Given the description of an element on the screen output the (x, y) to click on. 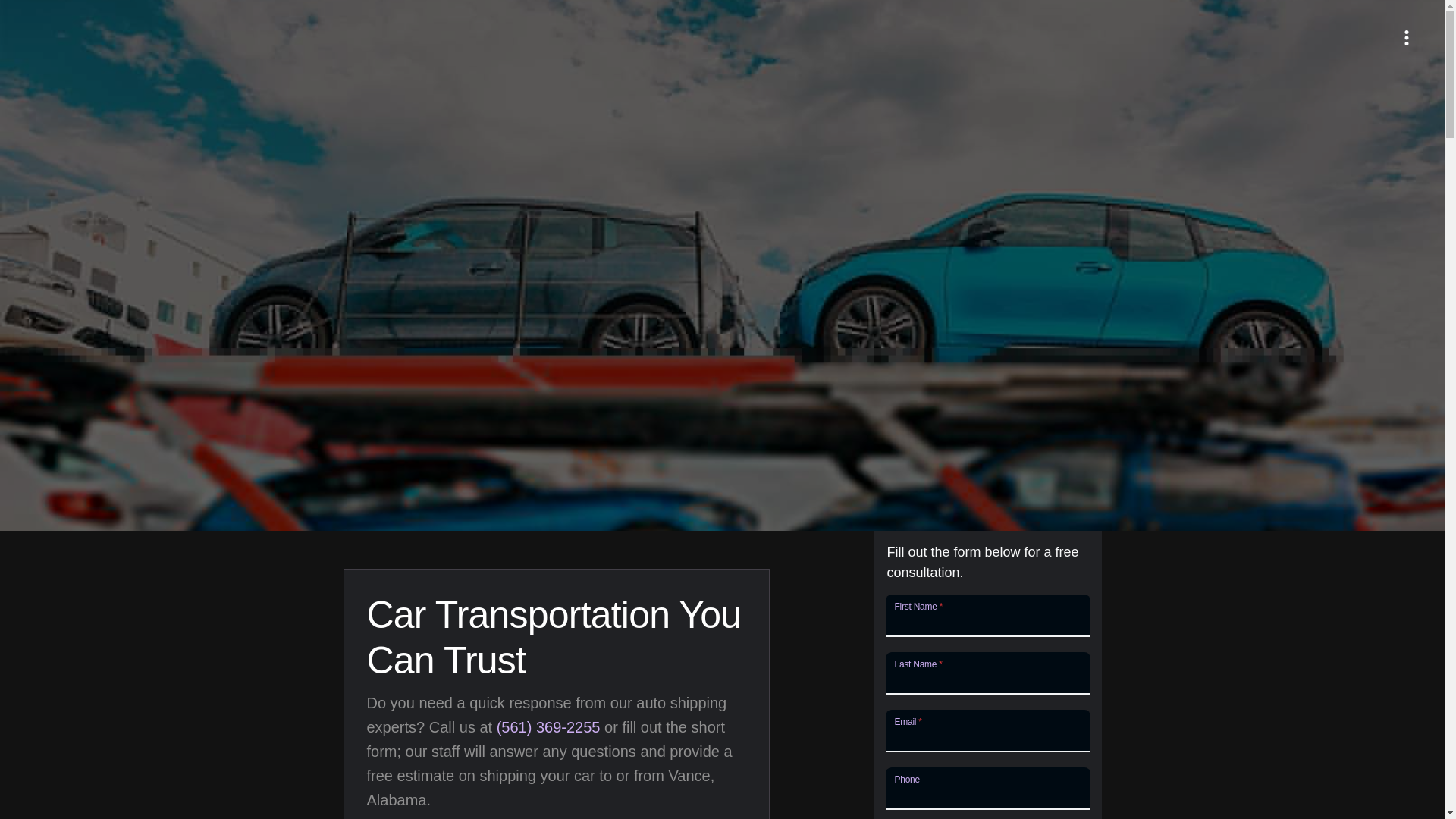
FAQ (1142, 1)
SERVICES (1207, 1)
REVIEWS (1395, 1)
GET A QUOTE (1302, 1)
HOME (1090, 1)
